Given the description of an element on the screen output the (x, y) to click on. 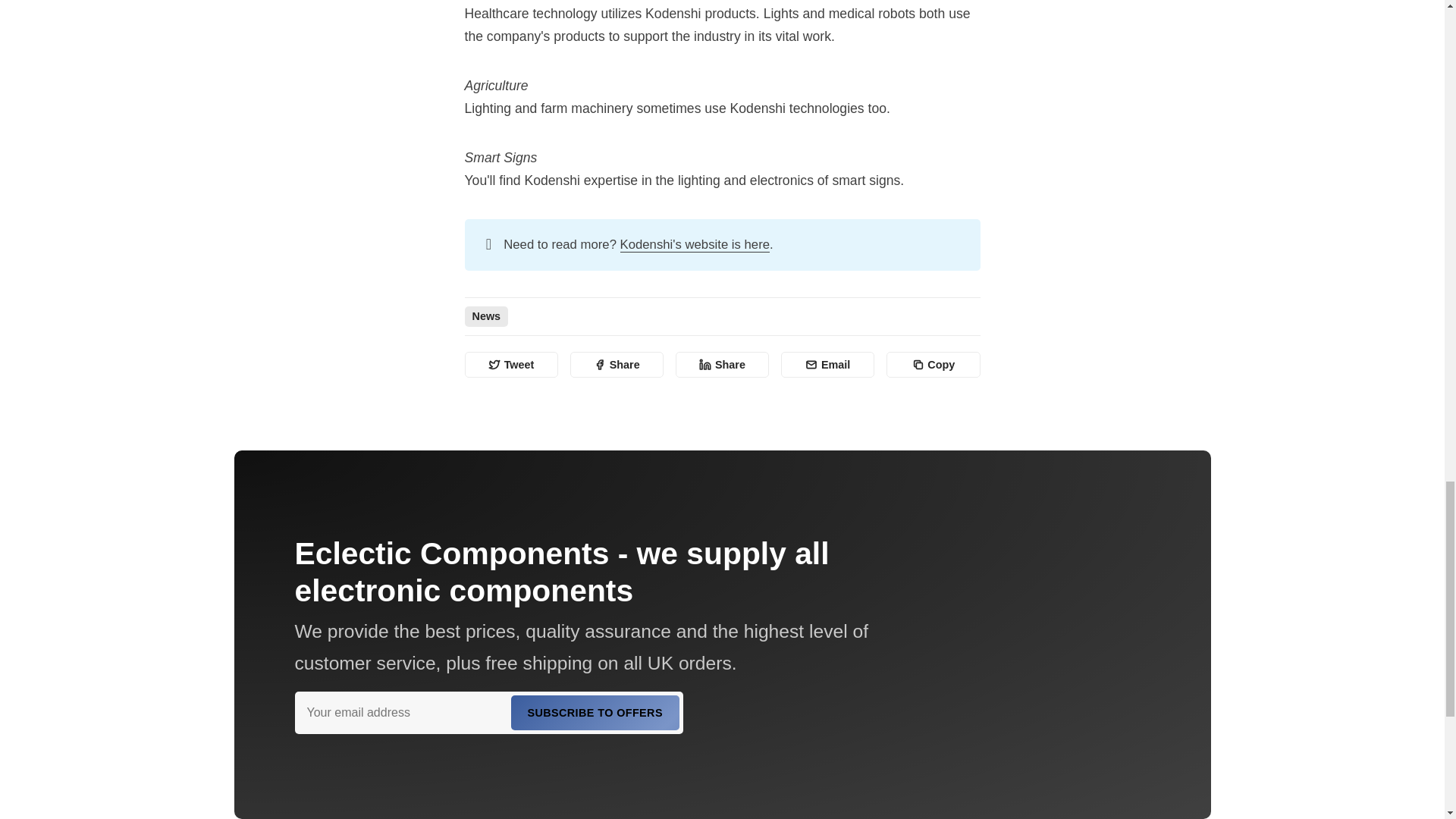
Kodenshi's website is here (695, 244)
Share (721, 364)
News (486, 316)
Copy to clipboard (932, 364)
Share by email (827, 364)
Share on Twitter (510, 364)
Tweet (510, 364)
Share (616, 364)
Share on Linkedin (721, 364)
Share on Facebook (616, 364)
Email (827, 364)
Copy (932, 364)
